Given the description of an element on the screen output the (x, y) to click on. 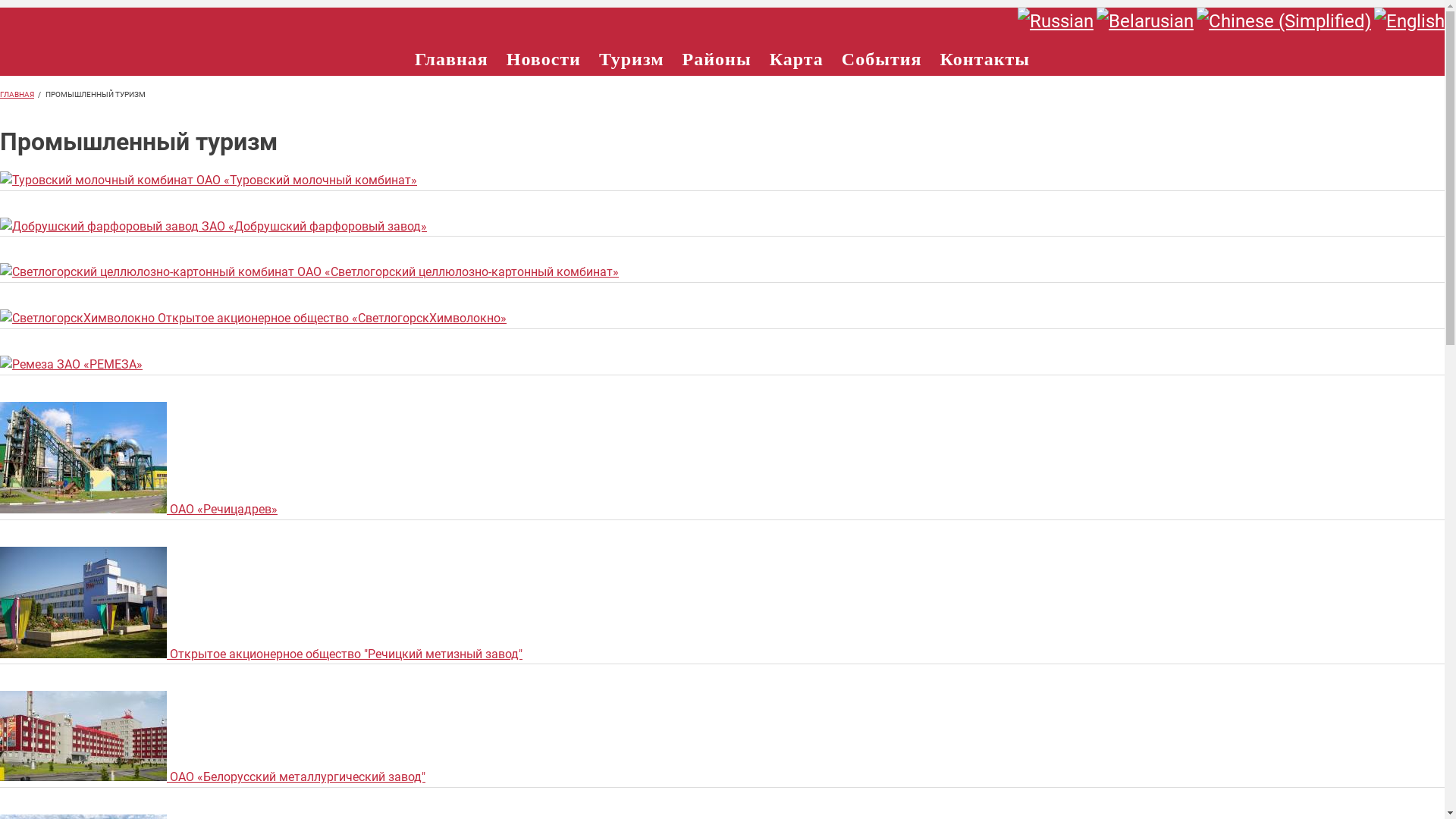
Chinese (Simplified) Element type: hover (1283, 20)
Russian Element type: hover (1055, 20)
Belarusian Element type: hover (1144, 20)
English Element type: hover (1409, 20)
